Given the description of an element on the screen output the (x, y) to click on. 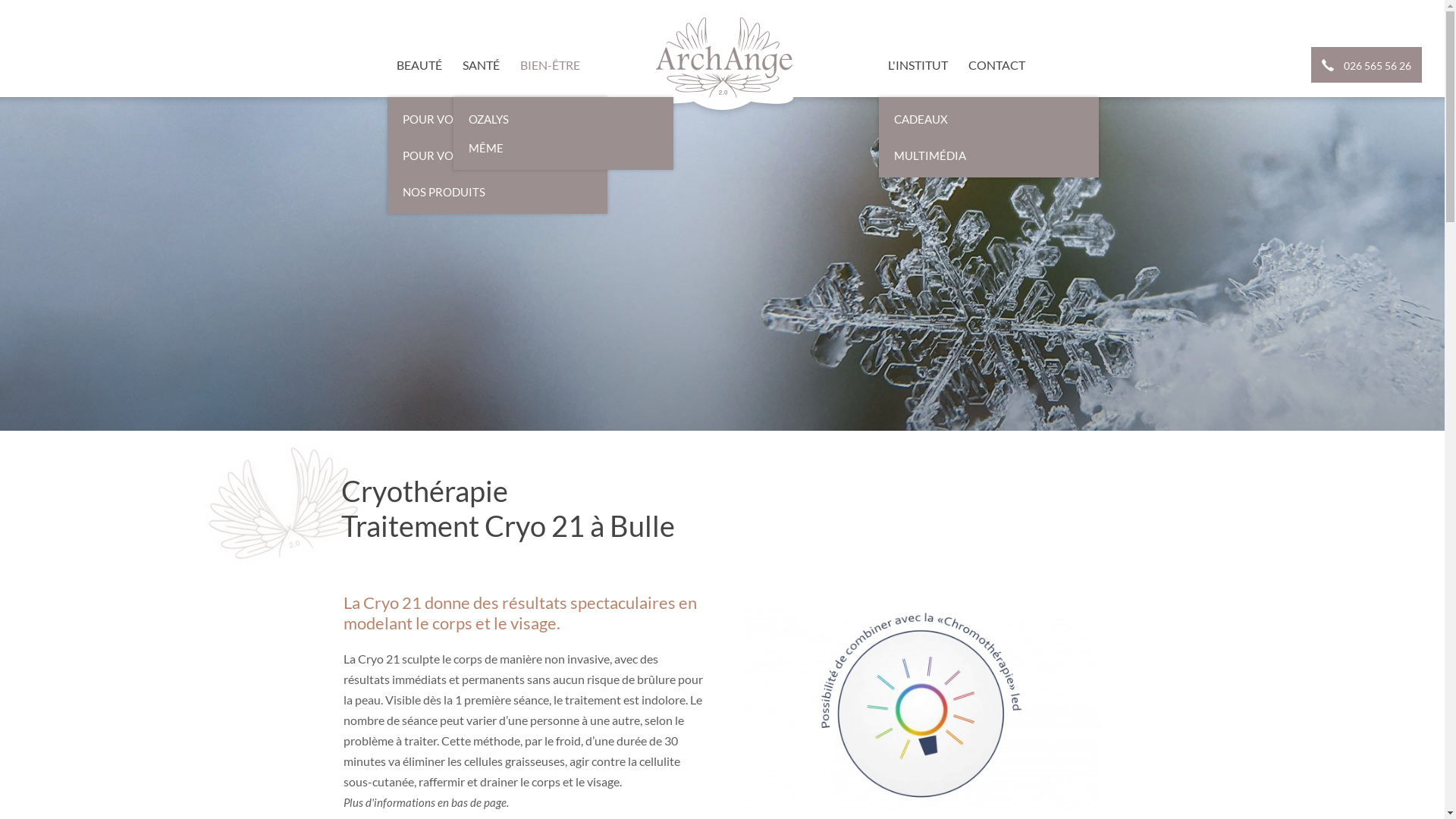
L'INSTITUT Element type: text (917, 64)
POUR VOUS MESSIEURS Element type: text (496, 151)
OZALYS Element type: text (563, 115)
POUR VOUS MESDAMES Element type: text (496, 115)
CADEAUX Element type: text (988, 115)
CONTACT Element type: text (996, 64)
NOS PRODUITS Element type: text (496, 191)
026 565 56 26 Element type: text (1366, 64)
